Given the description of an element on the screen output the (x, y) to click on. 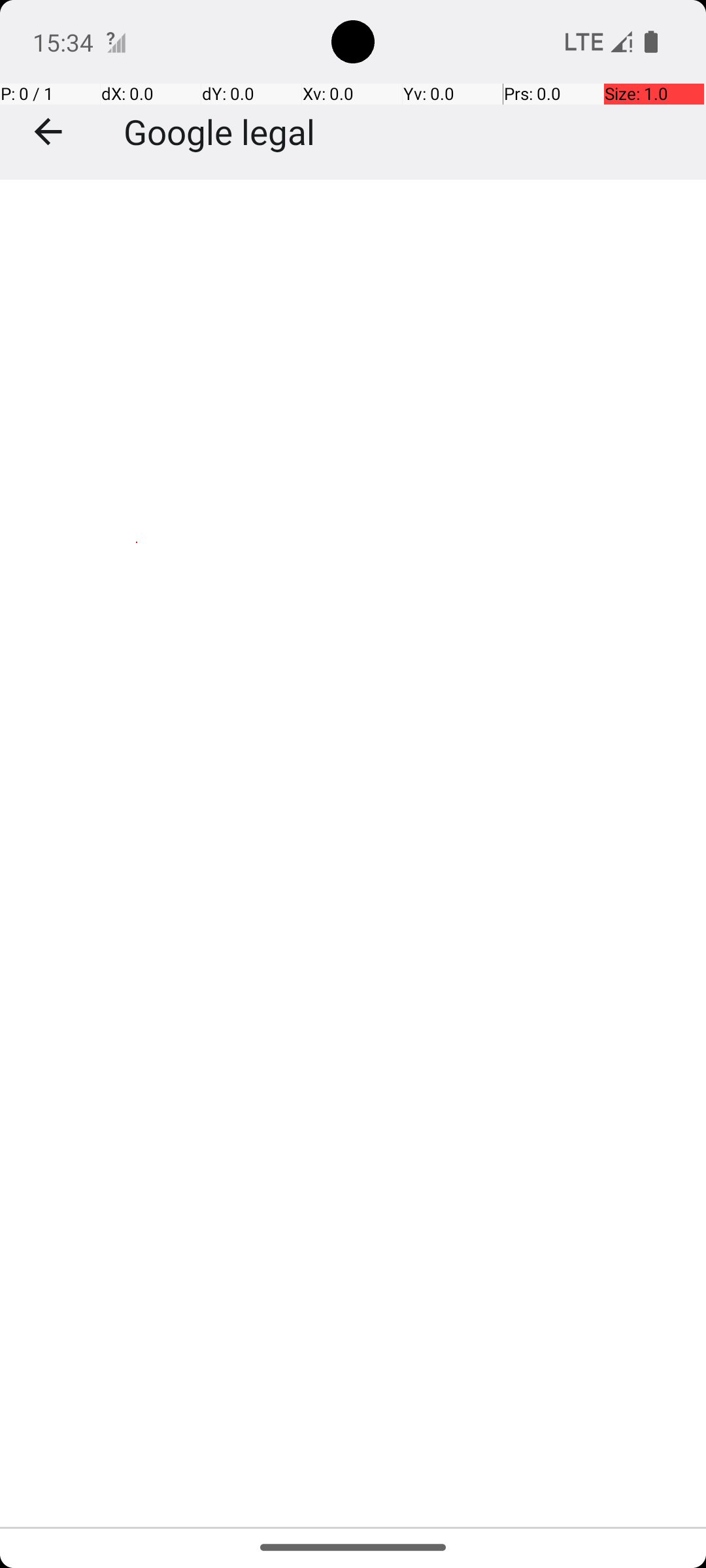
Google legal Element type: android.widget.TextView (219, 131)
